Given the description of an element on the screen output the (x, y) to click on. 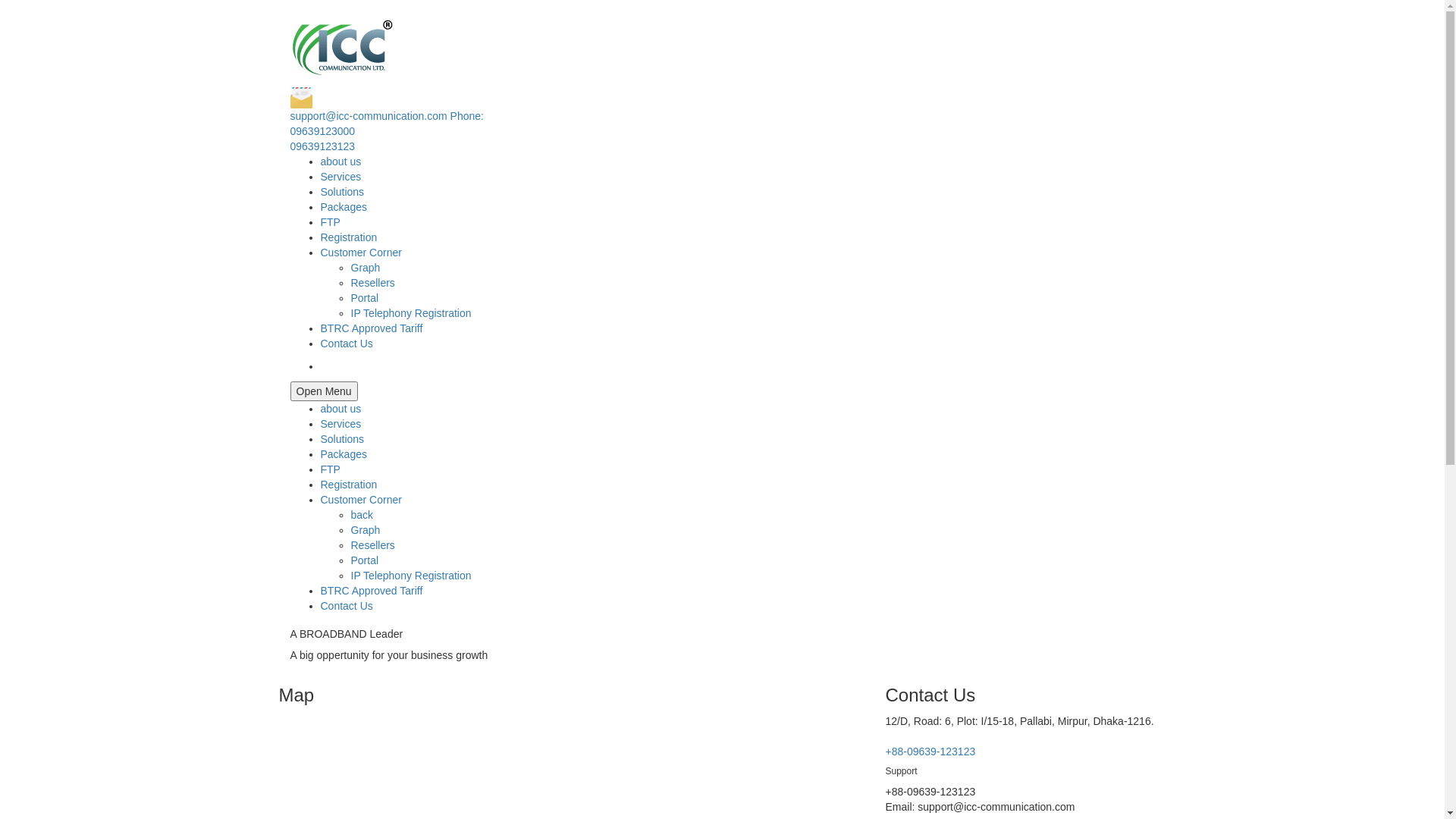
IP Telephony Registration Element type: text (410, 313)
support@icc-communication.com Element type: text (721, 104)
Packages Element type: text (343, 454)
Services Element type: text (340, 176)
+88-09639-123123 Element type: text (930, 751)
Registration Element type: text (348, 484)
Services Element type: text (340, 423)
Graph Element type: text (364, 267)
Contact Us Element type: text (346, 605)
BTRC Approved Tariff Element type: text (371, 590)
Packages Element type: text (343, 206)
IP Telephony Registration Element type: text (410, 575)
Solutions Element type: text (342, 439)
Solutions Element type: text (342, 191)
Portal Element type: text (364, 297)
FTP Element type: text (329, 469)
Contact Us Element type: text (346, 343)
Graph Element type: text (364, 530)
Resellers Element type: text (372, 545)
BTRC Approved Tariff Element type: text (371, 328)
back Element type: text (361, 514)
Resellers Element type: text (372, 282)
FTP Element type: text (329, 222)
Phone:
09639123000
09639123123 Element type: text (386, 130)
Customer Corner Element type: text (360, 252)
Portal Element type: text (364, 560)
Customer Corner Element type: text (360, 499)
Registration Element type: text (348, 237)
about us Element type: text (340, 408)
about us Element type: text (340, 161)
Open Menu Element type: text (323, 391)
